Given the description of an element on the screen output the (x, y) to click on. 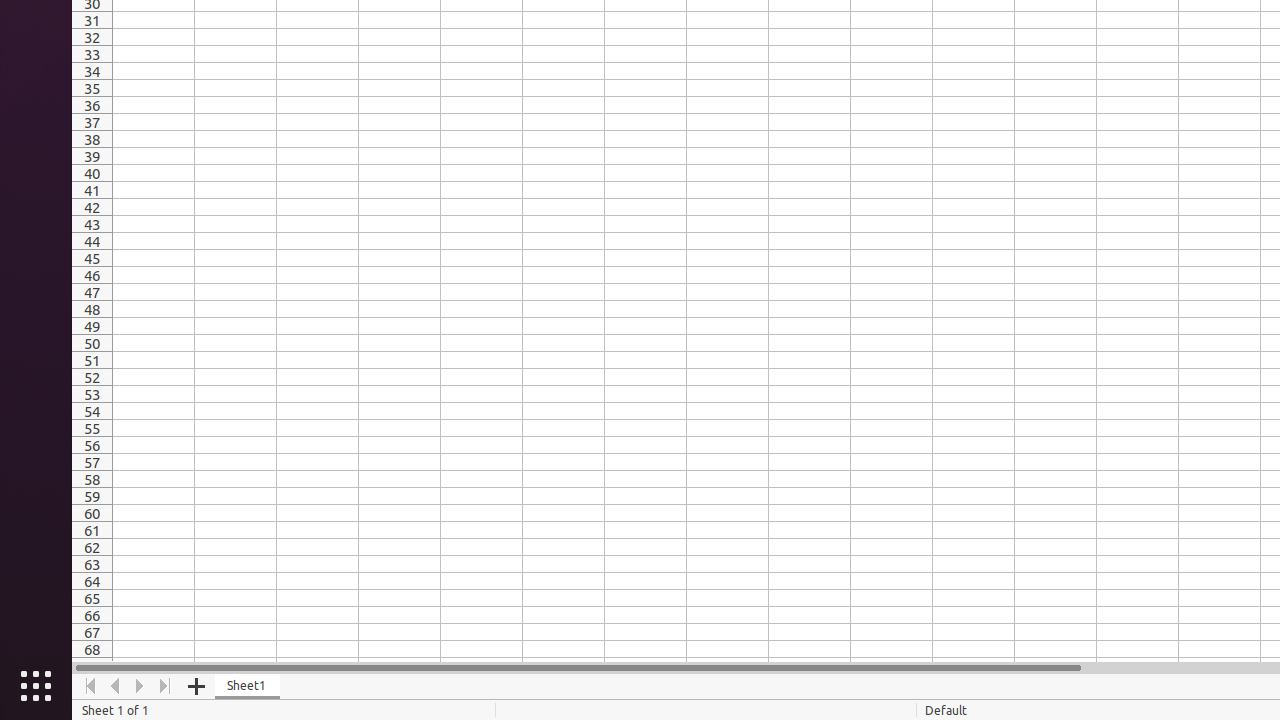
Show Applications Element type: toggle-button (36, 686)
